Given the description of an element on the screen output the (x, y) to click on. 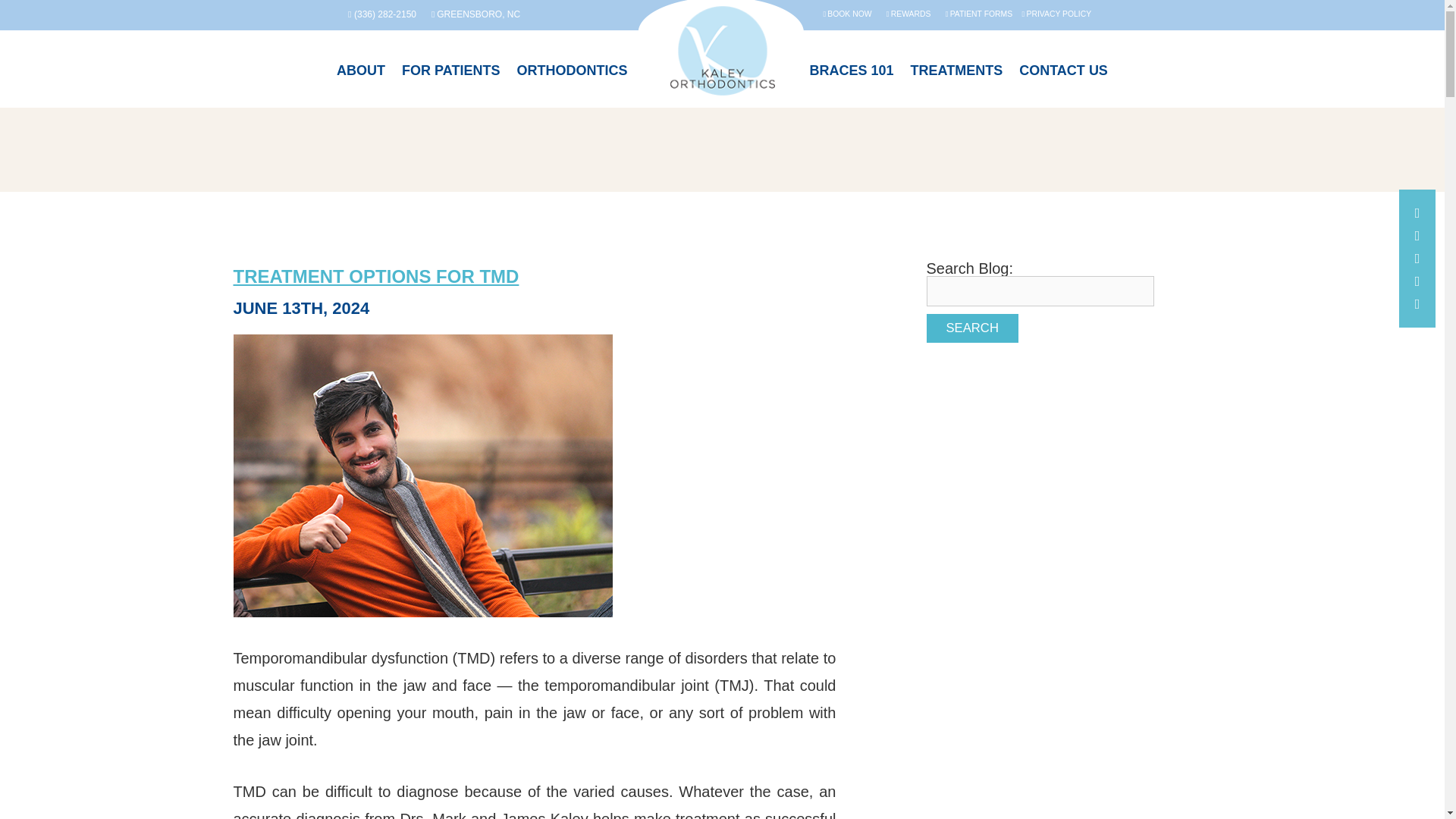
PRIVACY POLICY (1057, 14)
TREATMENTS (956, 81)
FOR PATIENTS (450, 81)
Permanent Link to Treatment Options for TMD (375, 276)
PATIENT FORMS (977, 14)
ABOUT (361, 81)
BRACES 101 (851, 81)
REWARDS (908, 14)
GREENSBORO, NC (474, 15)
ORTHODONTICS (571, 81)
BOOK NOW (846, 14)
